Given the description of an element on the screen output the (x, y) to click on. 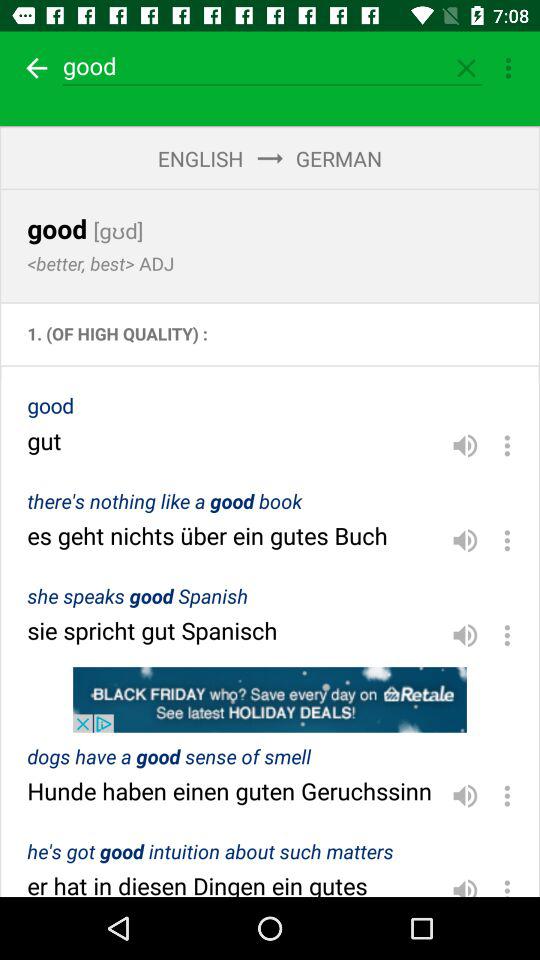
volume option (465, 883)
